Given the description of an element on the screen output the (x, y) to click on. 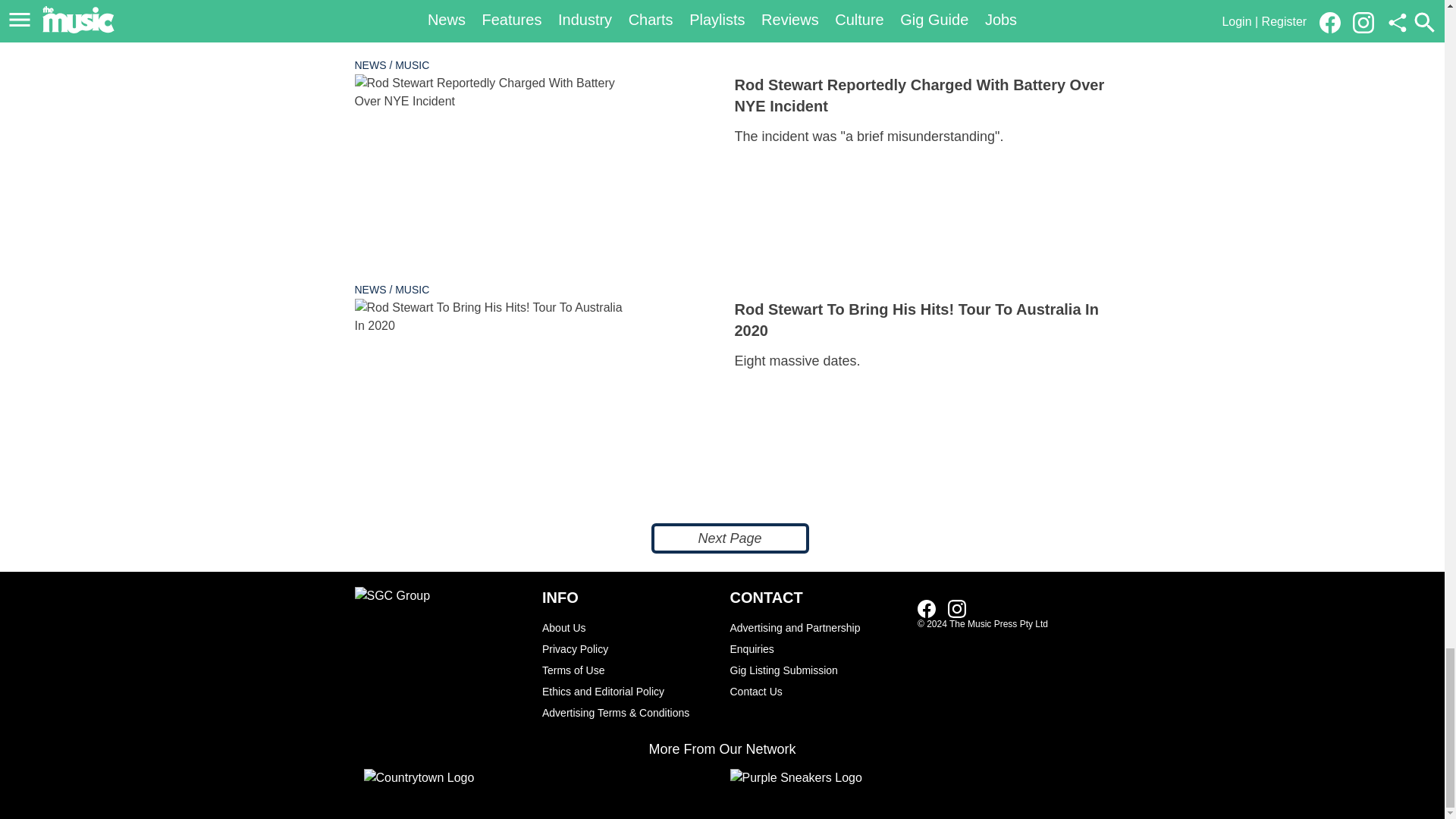
Next Page (729, 538)
Link to our Facebook (926, 608)
Link to our Instagram (956, 608)
